Given the description of an element on the screen output the (x, y) to click on. 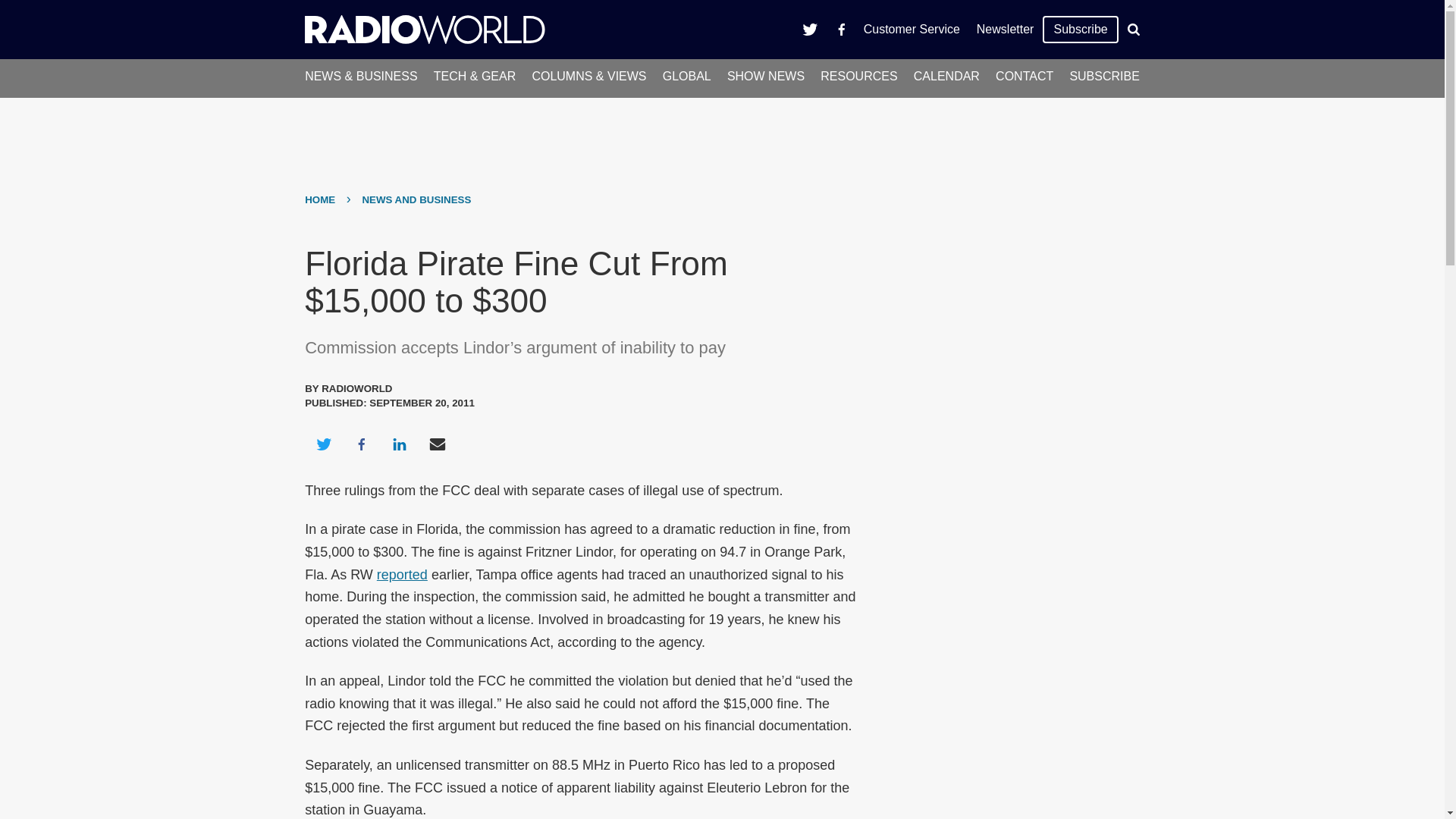
Share on LinkedIn (399, 444)
Share via Email (438, 444)
Share on Twitter (323, 444)
Share on Facebook (361, 444)
Customer Service (912, 29)
